Given the description of an element on the screen output the (x, y) to click on. 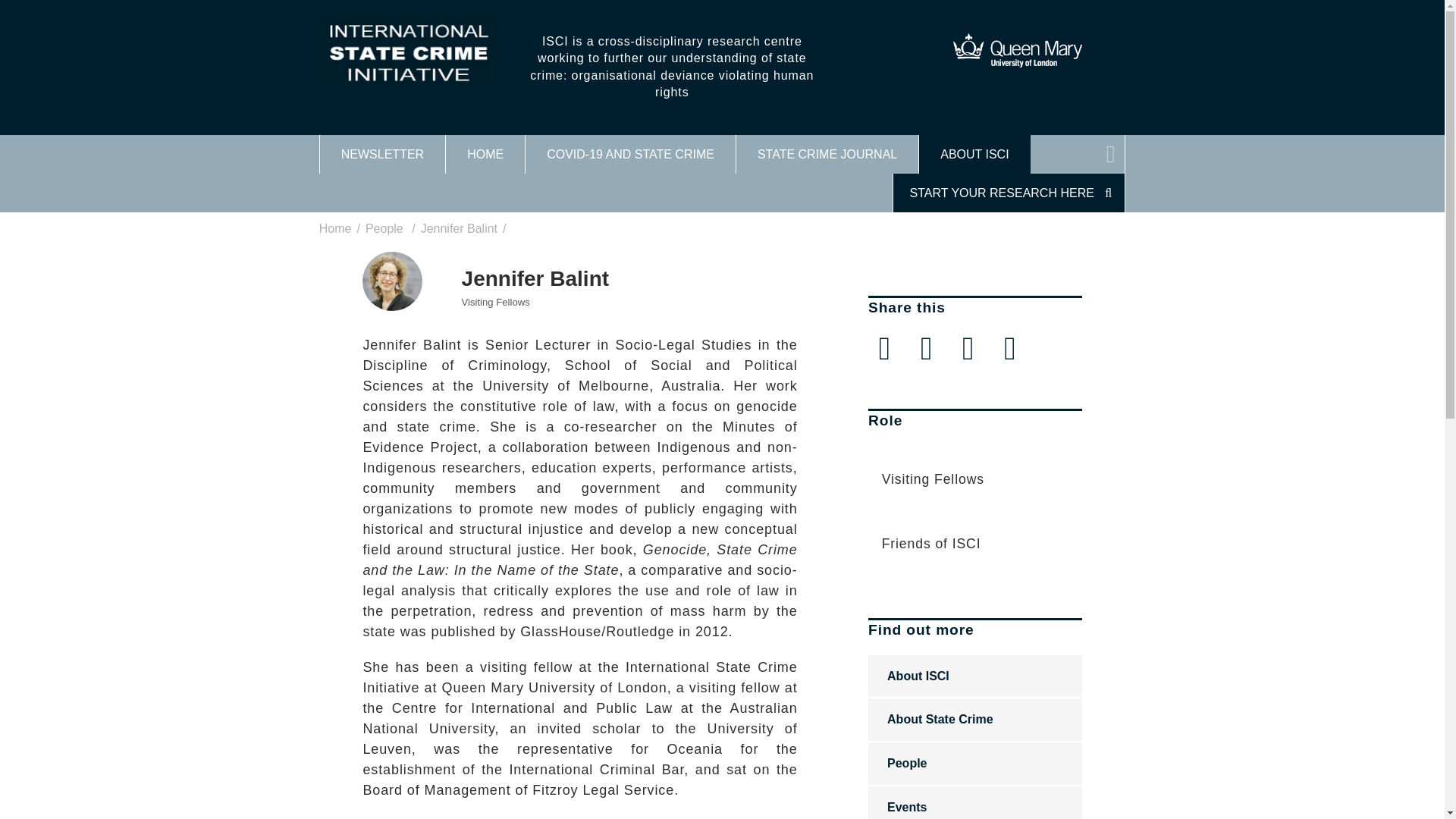
NEWSLETTER (382, 154)
COVID-19 AND STATE CRIME (630, 154)
Share on Facebook (926, 347)
Share by email (1009, 347)
STATE CRIME JOURNAL (827, 154)
Share on Twitter (884, 347)
Back to People (384, 229)
HOME (484, 154)
Back to Home (335, 229)
ABOUT ISCI (973, 154)
